Given the description of an element on the screen output the (x, y) to click on. 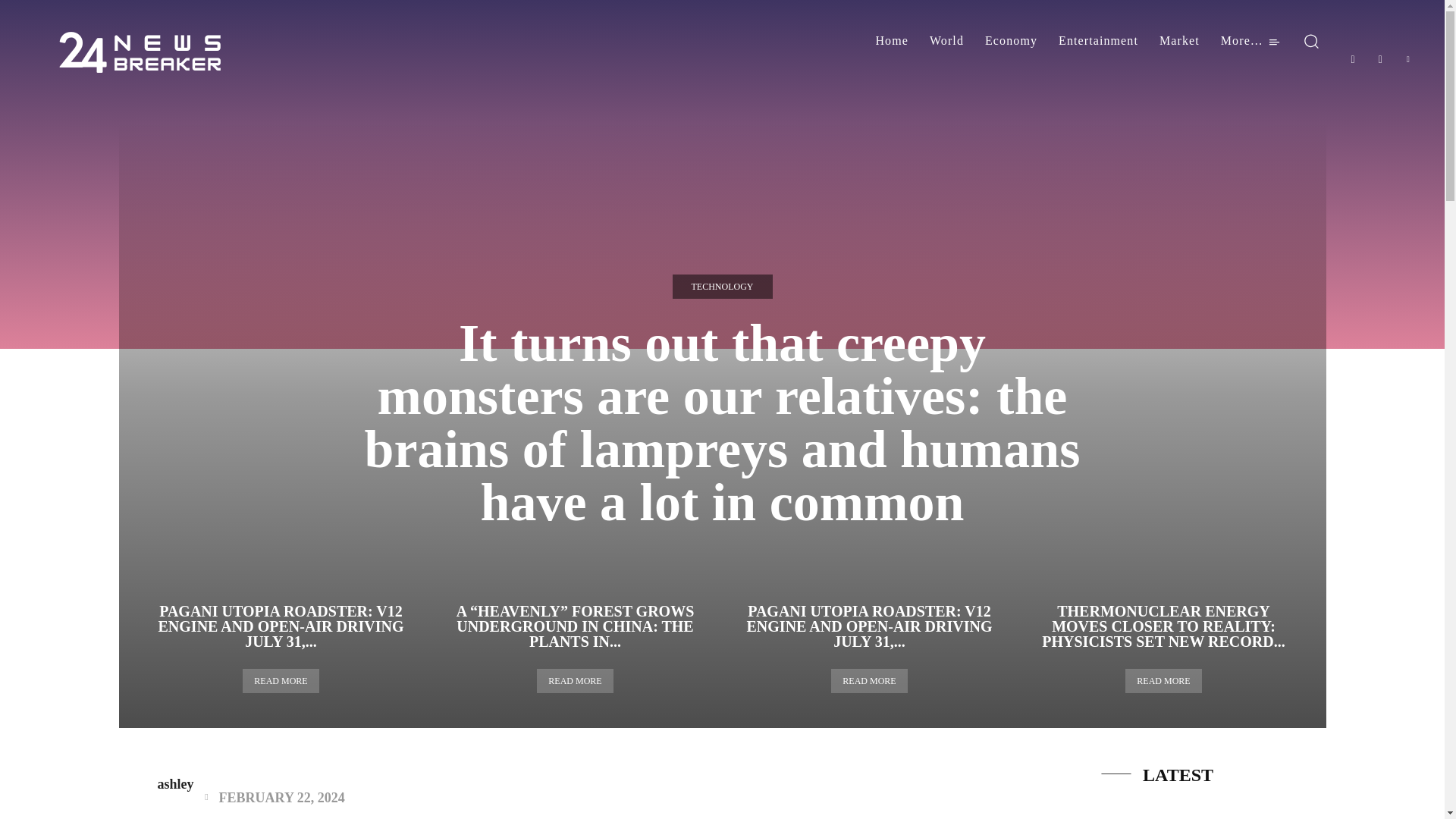
Home (891, 40)
Instagram (1380, 58)
World (946, 40)
Economy (1011, 40)
Twitter (1408, 58)
Market (1178, 40)
Facebook (1353, 58)
Entertainment (1098, 40)
